Given the description of an element on the screen output the (x, y) to click on. 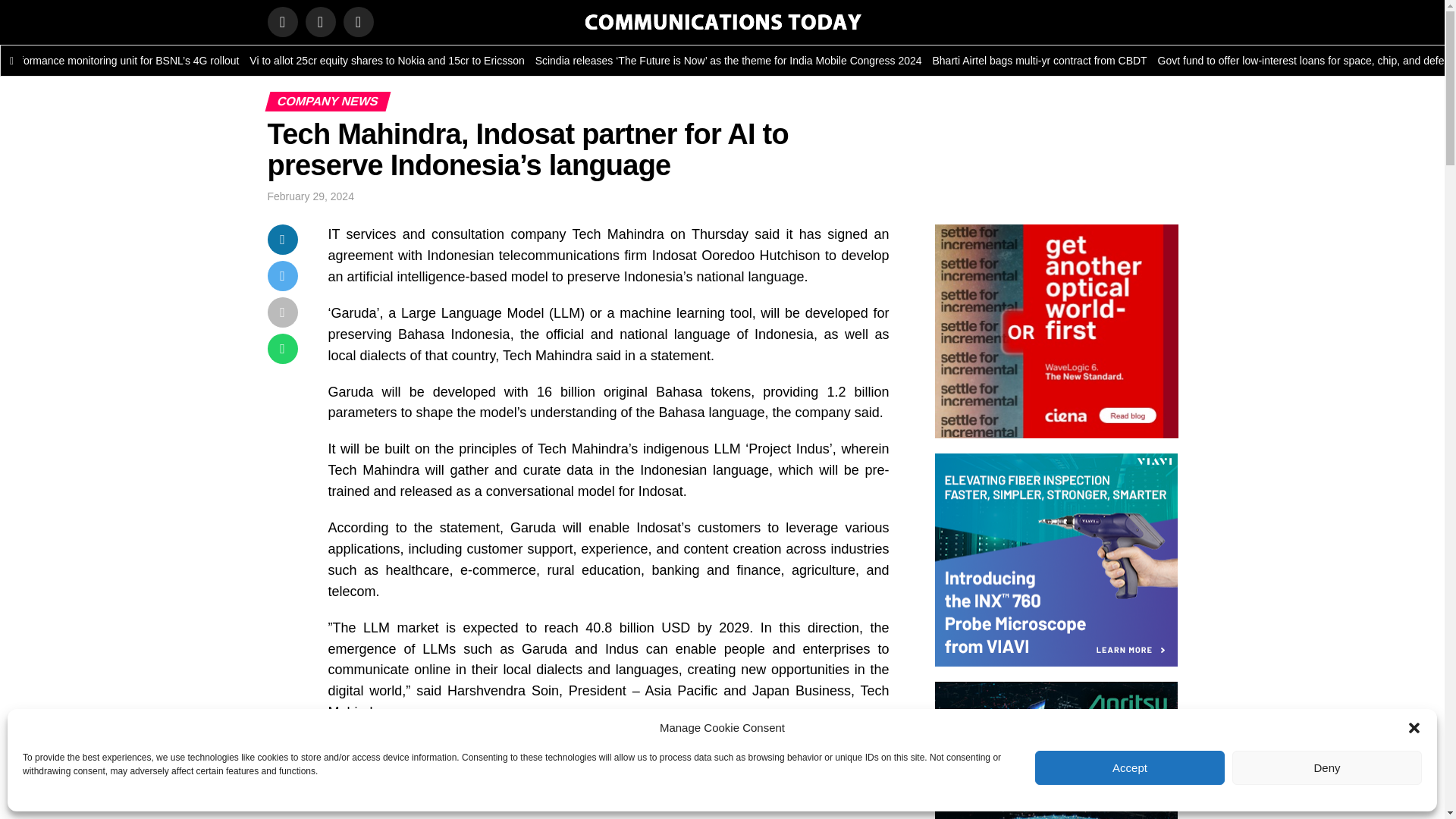
There will be no default on MTNL bond dues (51, 60)
Vi to allot 25cr equity shares to Nokia and 15cr to Ericsson (548, 60)
Bharti Airtel bags multi-yr contract from CBDT (1196, 60)
